Given the description of an element on the screen output the (x, y) to click on. 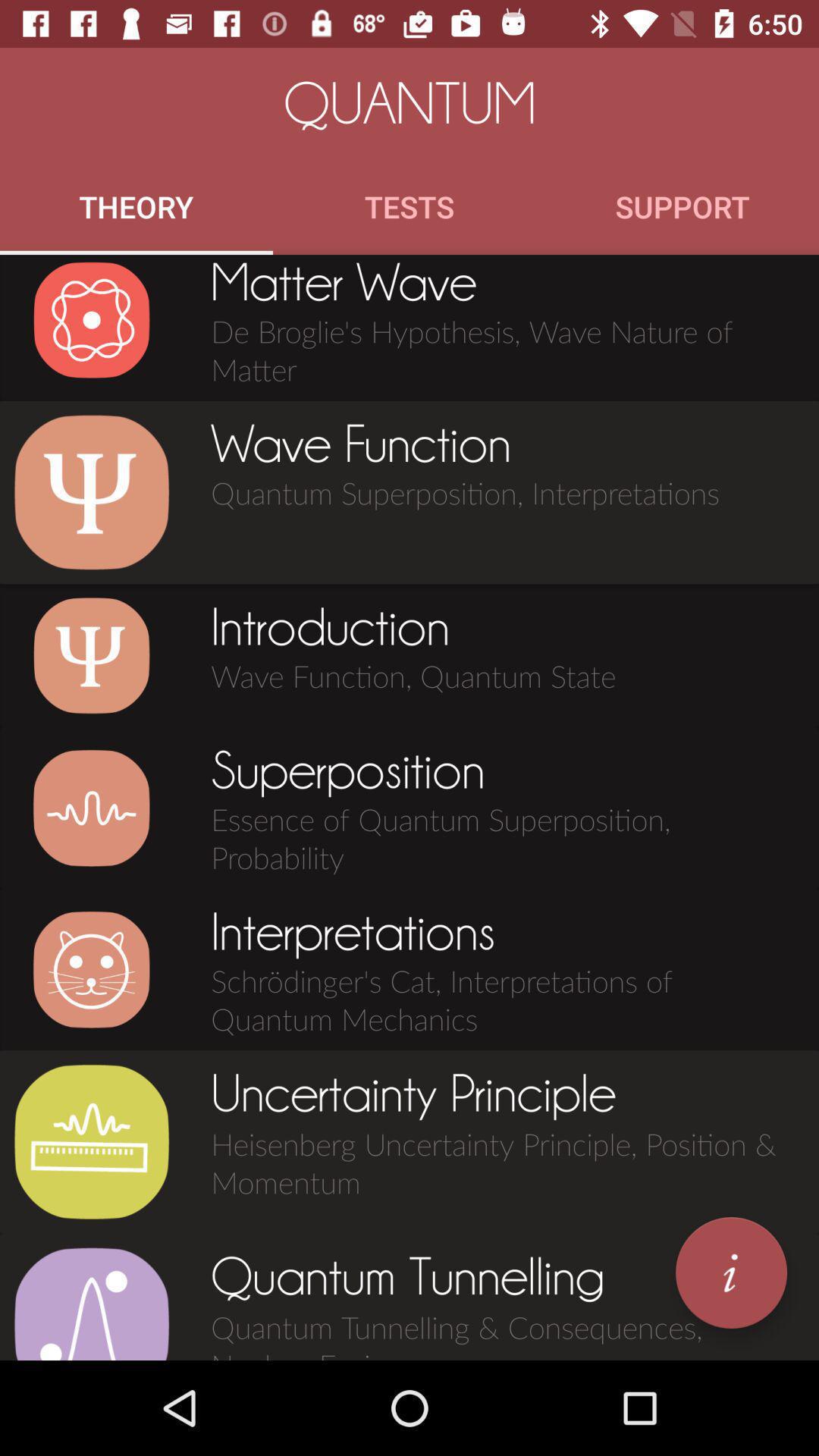
turn off the icon next to quantum tunnelling icon (91, 1302)
